Given the description of an element on the screen output the (x, y) to click on. 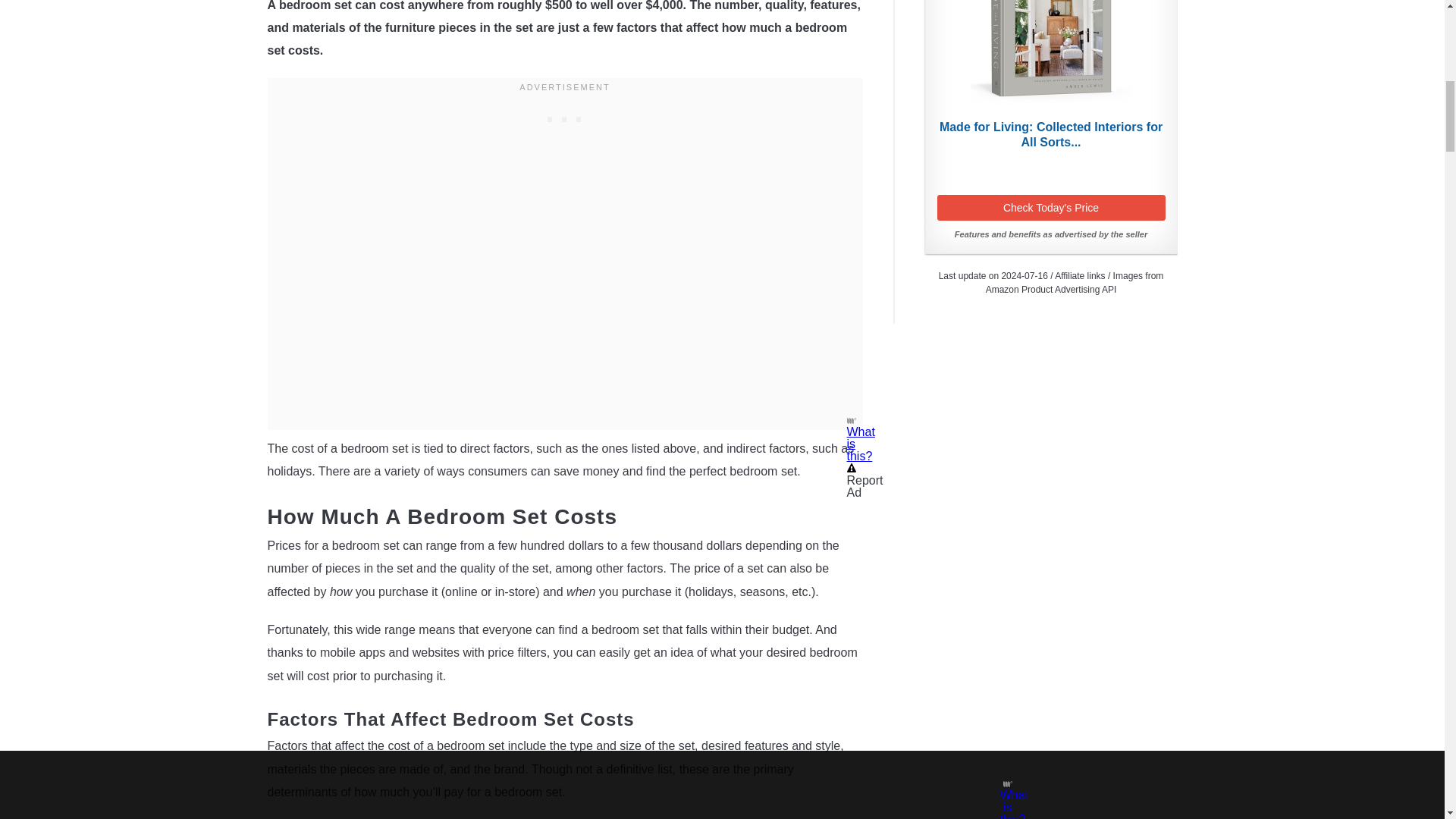
Check Today's Price (1051, 207)
Made for Living: Collected Interiors for All Sorts of... (1051, 134)
Made for Living: Collected Interiors for All Sorts... (1051, 134)
Check Today's Price (1051, 207)
3rd party ad content (564, 115)
Made for Living: Collected Interiors for All Sorts of... (1050, 56)
